Given the description of an element on the screen output the (x, y) to click on. 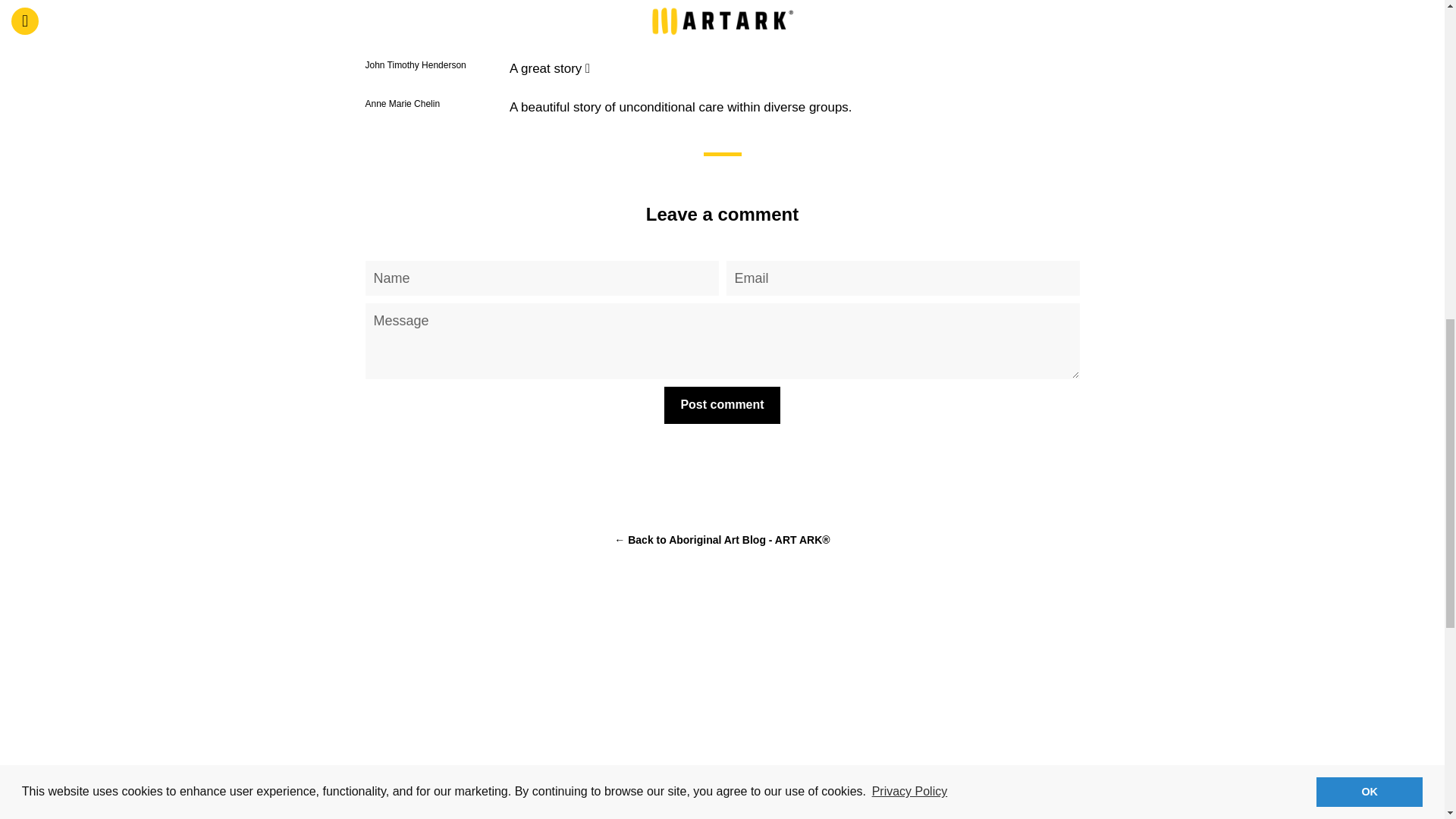
Post comment (720, 405)
